Given the description of an element on the screen output the (x, y) to click on. 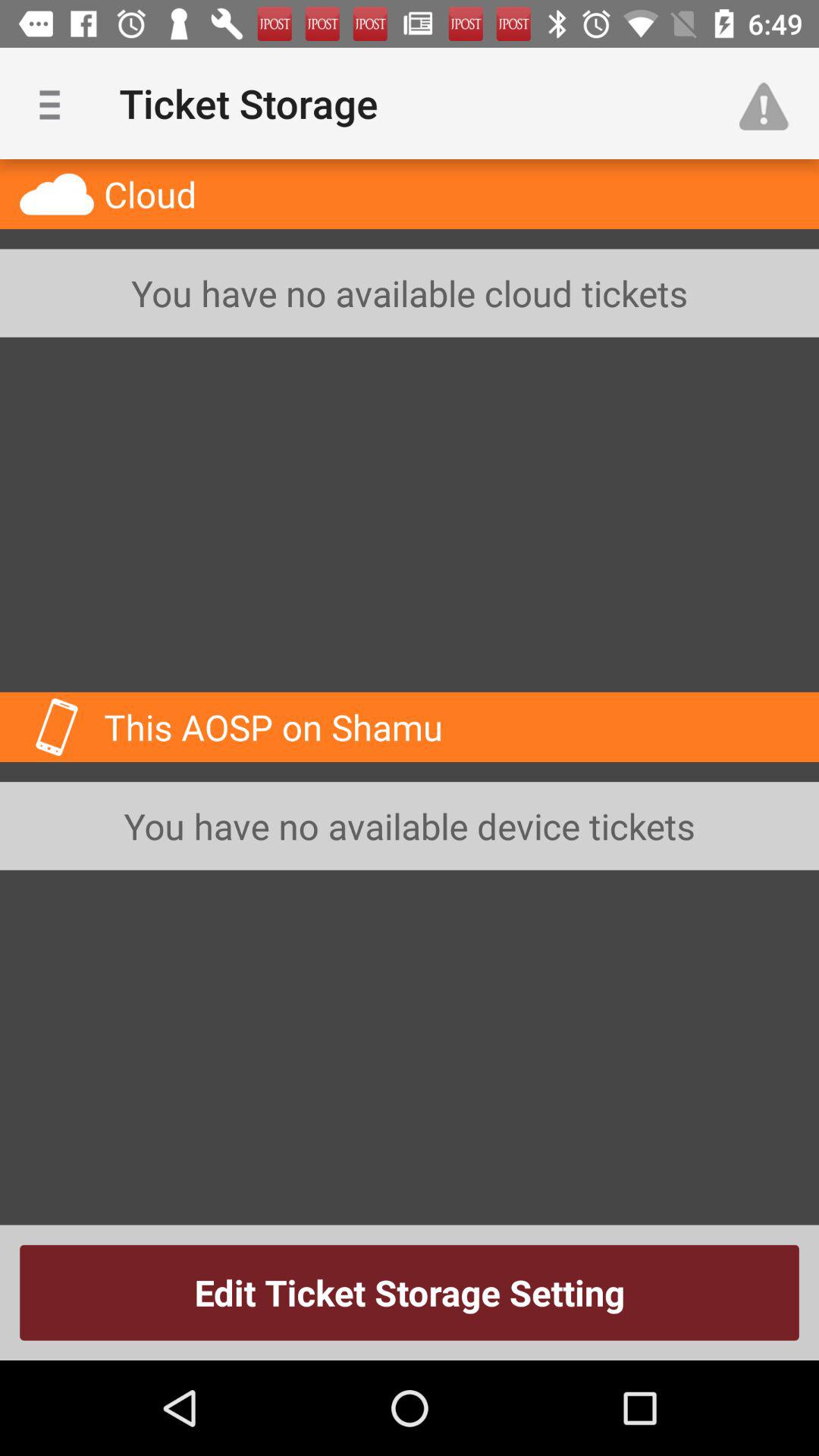
launch the icon next to ticket storage (55, 103)
